Given the description of an element on the screen output the (x, y) to click on. 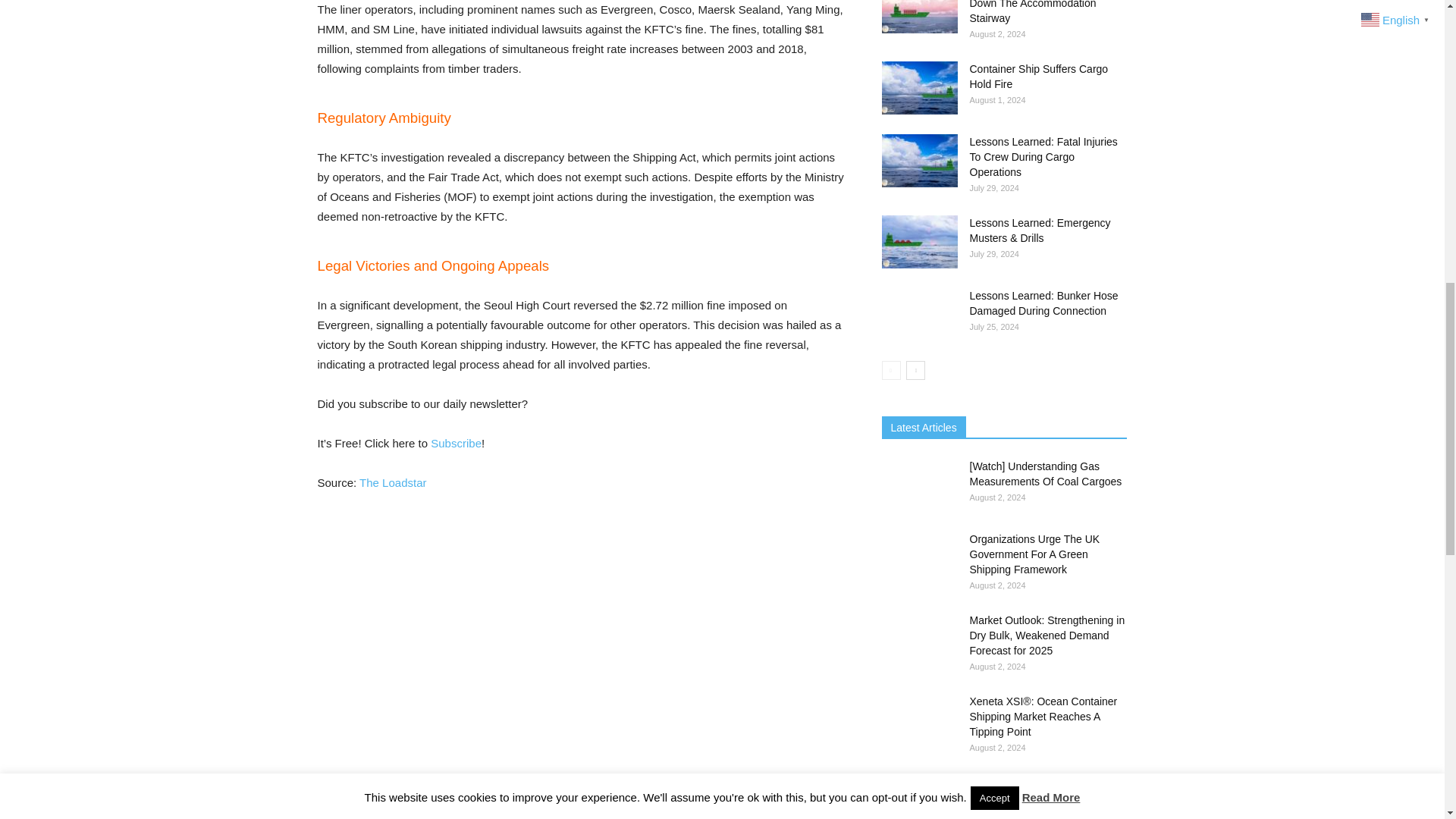
VL1new (580, 787)
